Given the description of an element on the screen output the (x, y) to click on. 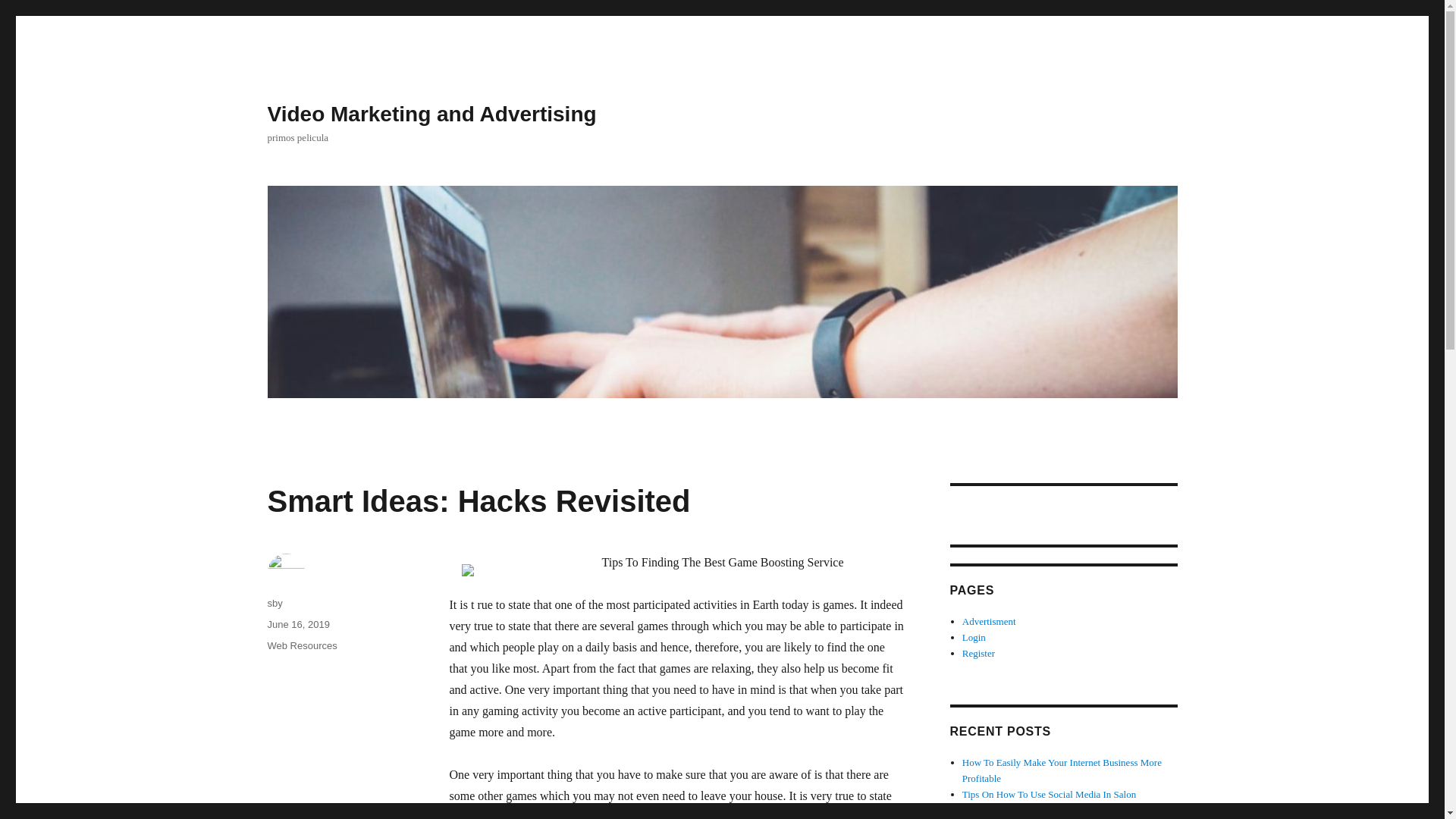
How To Easily Make Your Internet Business More Profitable (1061, 769)
Advertisment (989, 621)
June 16, 2019 (297, 624)
Video Marketing and Advertising (430, 114)
Web Resources (301, 645)
sby (274, 603)
Login (973, 636)
Tips On How To Use Social Media In Salon Marketing (1048, 801)
Register (978, 653)
